Given the description of an element on the screen output the (x, y) to click on. 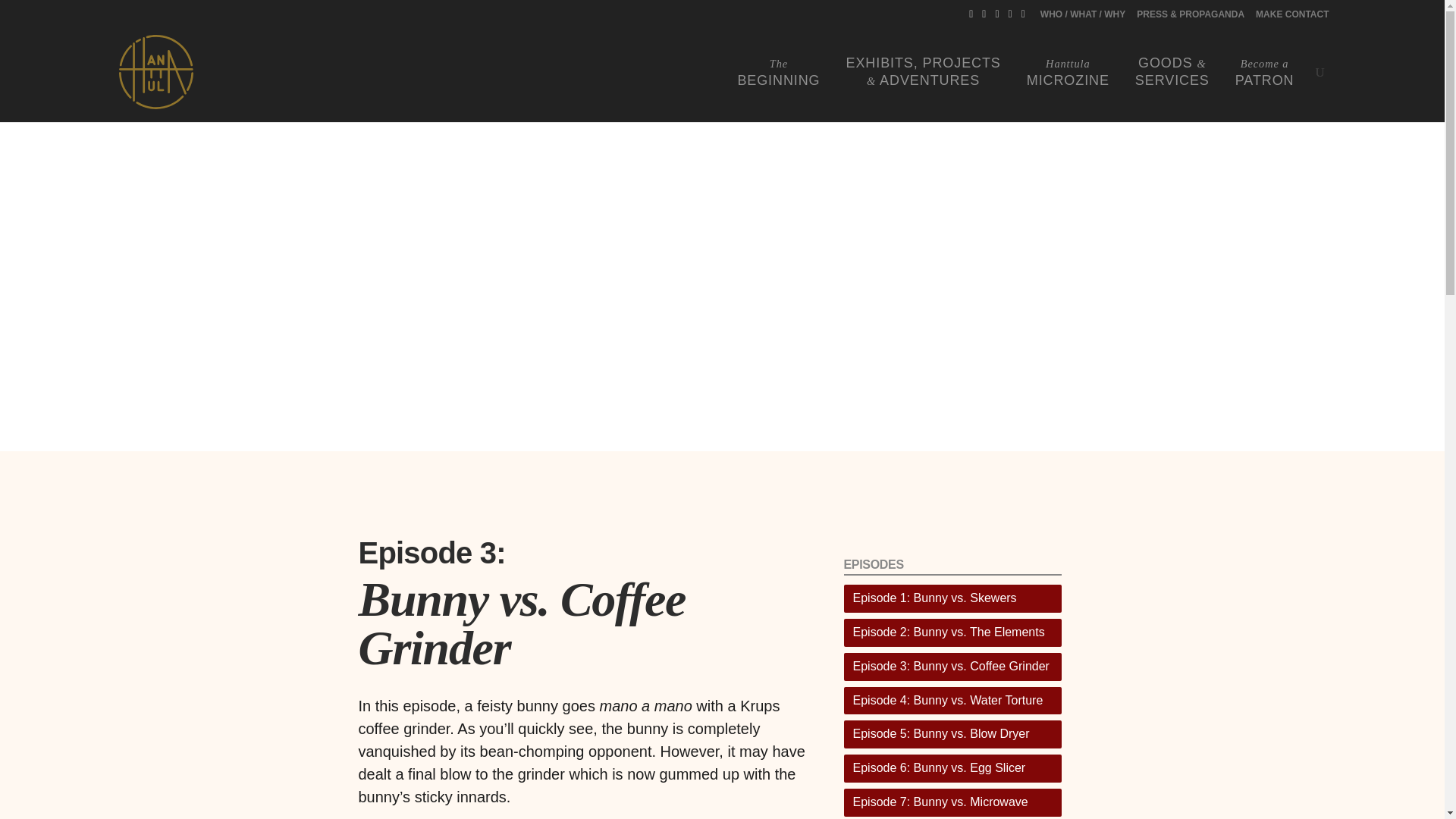
Episode 2: Bunny vs. The Elements (1264, 72)
Episode 3: Bunny vs. Coffee Grinder (952, 633)
MAKE CONTACT (952, 666)
Episode 4: Bunny vs. Water Torture (1291, 16)
Episode 5: Bunny vs. Blow Dryer (952, 700)
Episode 6: Bunny vs. Egg Slicer (1067, 72)
Episode 7: Bunny vs. Microwave (952, 734)
Episode 1: Bunny vs. Skewers (778, 72)
